Given the description of an element on the screen output the (x, y) to click on. 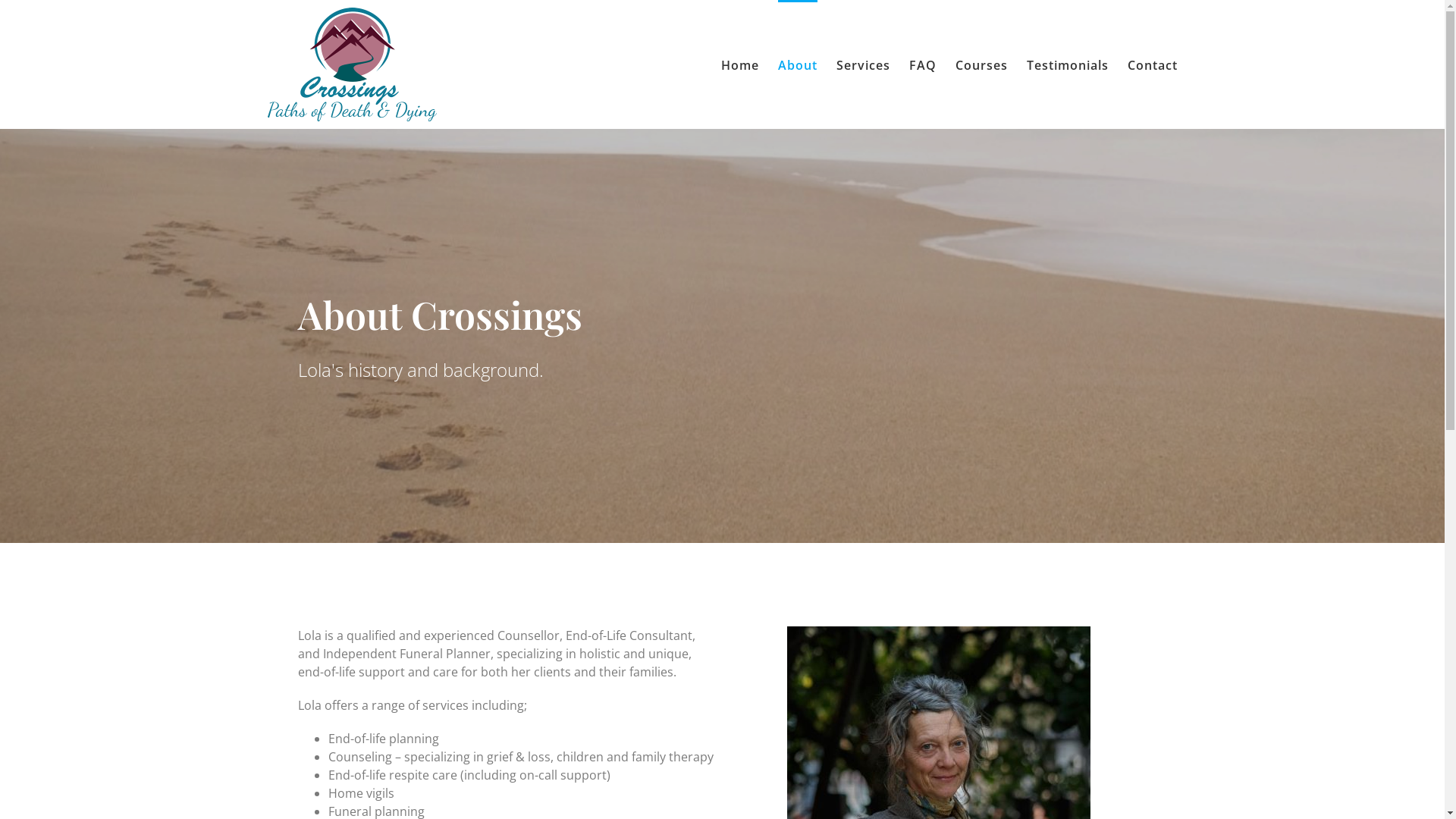
Courses Element type: text (981, 64)
Home Element type: text (739, 64)
FAQ Element type: text (921, 64)
Testimonials Element type: text (1067, 64)
Services Element type: text (862, 64)
Contact Element type: text (1151, 64)
About Element type: text (797, 64)
